Given the description of an element on the screen output the (x, y) to click on. 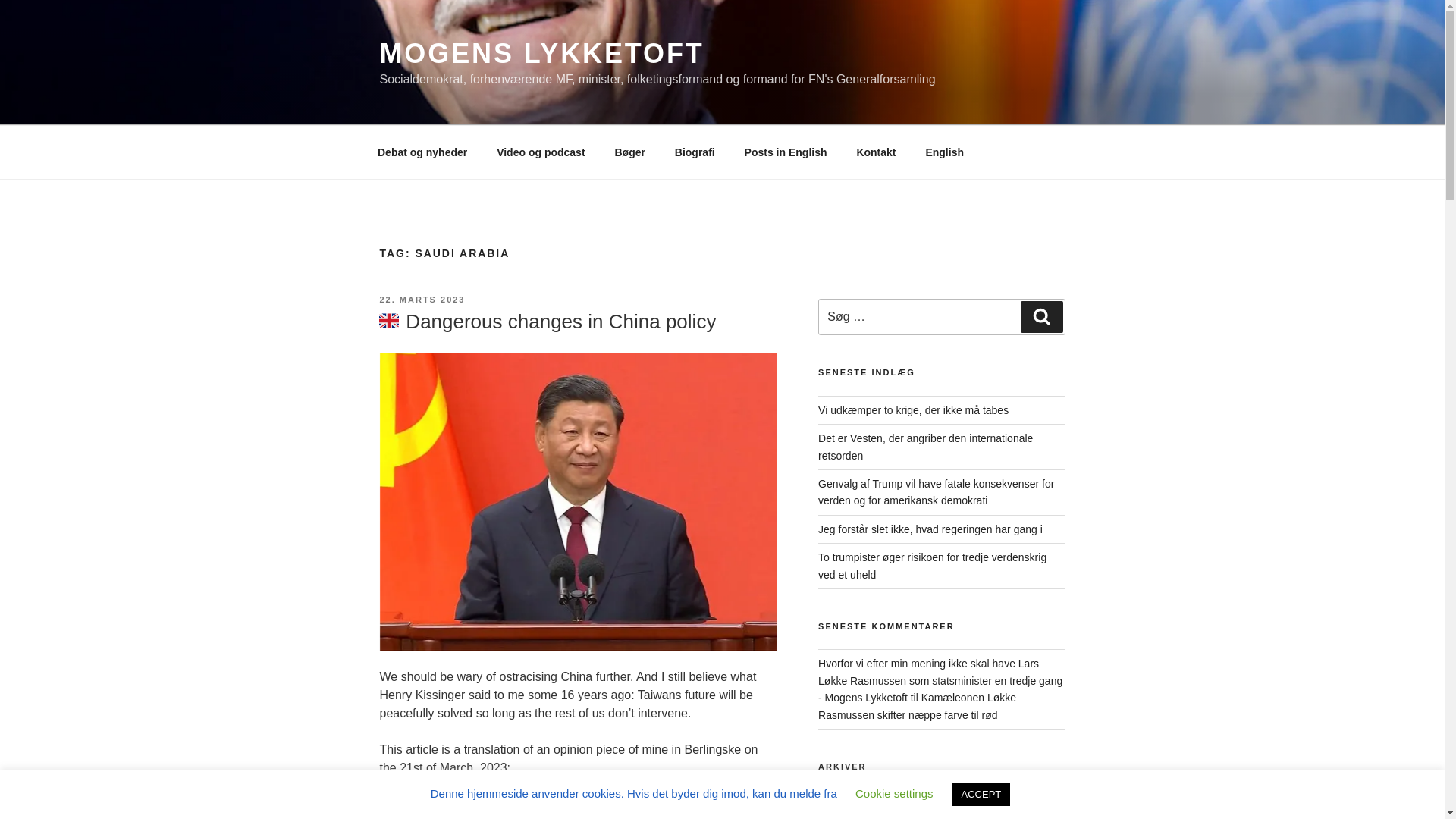
22. MARTS 2023 (421, 298)
Biografi (694, 151)
juni 2024 (839, 803)
English (944, 151)
Dangerous changes in China policy (546, 321)
Debat og nyheder (422, 151)
MOGENS LYKKETOFT (540, 52)
Det er Vesten, der angriber den internationale retsorden (925, 446)
Posts in English (785, 151)
Kontakt (875, 151)
Video og podcast (540, 151)
